Given the description of an element on the screen output the (x, y) to click on. 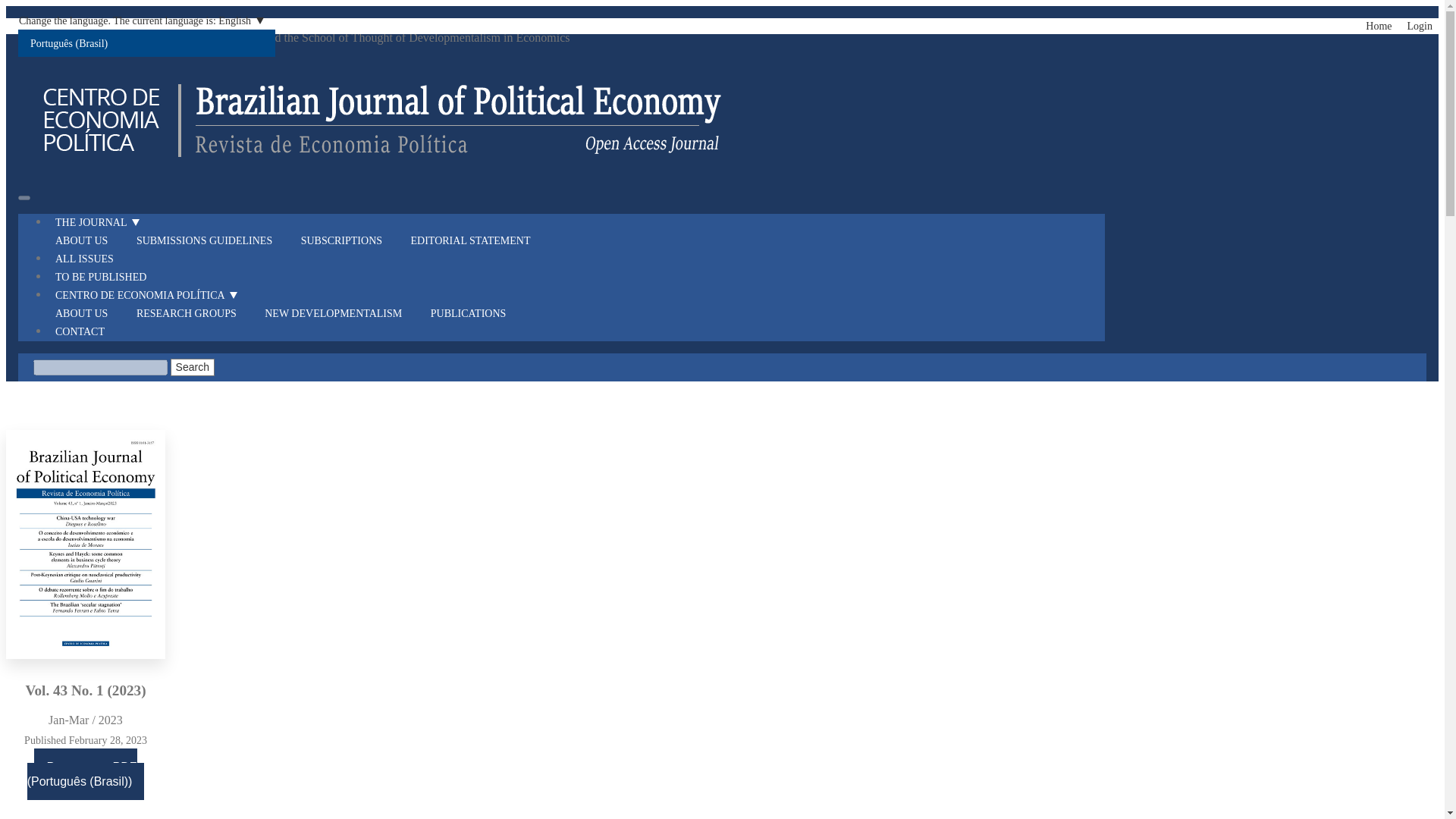
Search (192, 367)
SUBMISSIONS GUIDELINES (211, 240)
Home (1378, 25)
PUBLICATIONS (474, 313)
Change the language. The current language is: English (146, 20)
NEW DEVELOPMENTALISM (340, 313)
SUBSCRIPTIONS (349, 240)
THE JOURNAL (106, 222)
ABOUT US (88, 313)
RESEARCH GROUPS (193, 313)
